Given the description of an element on the screen output the (x, y) to click on. 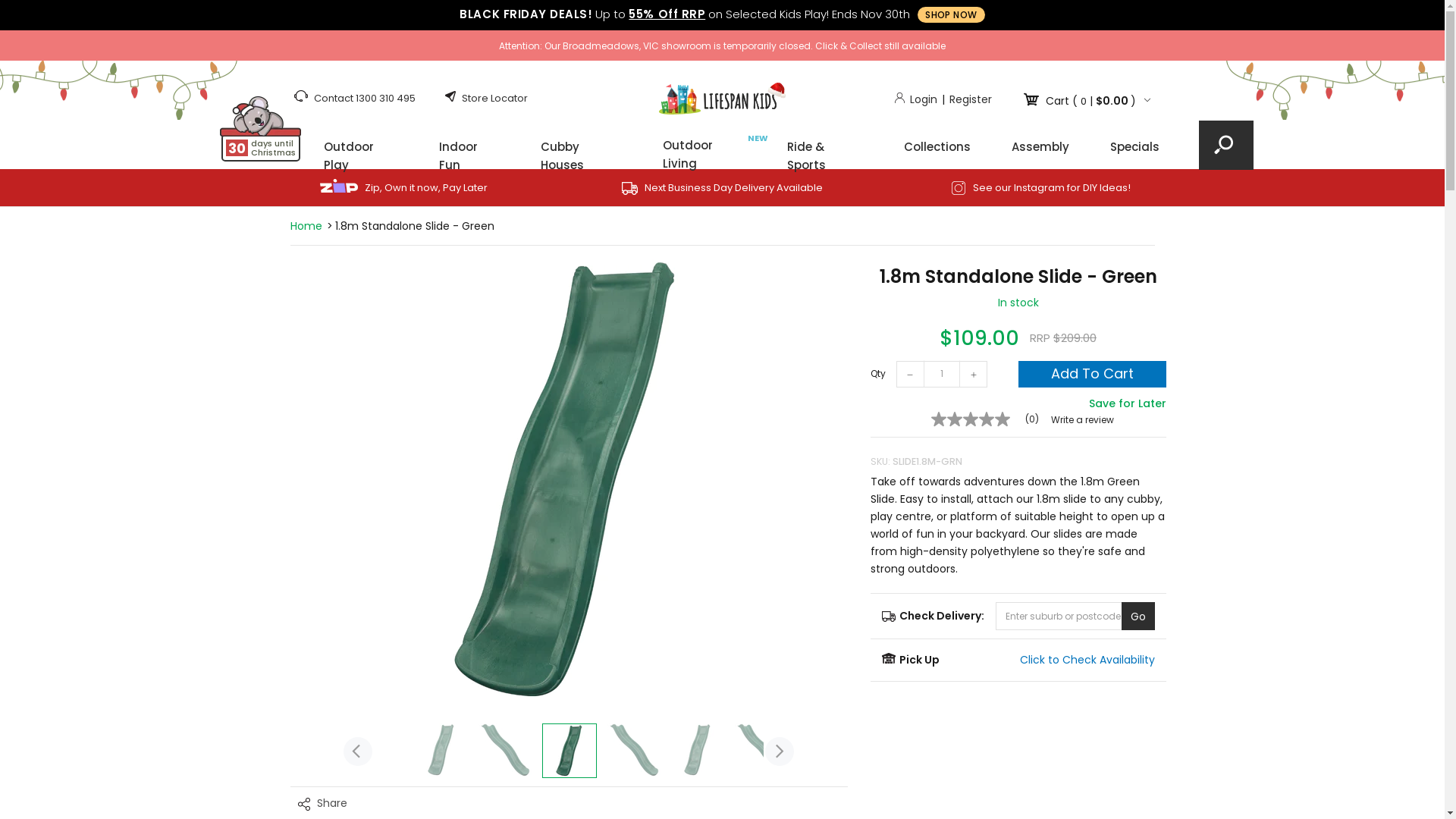
Add to Cart Element type: text (1091, 373)
Contact 1300 310 495 Element type: text (354, 98)
See our Instagram for DIY Ideas! Element type: text (1040, 187)
Register Element type: text (970, 98)
Save for Later Element type: text (1127, 403)
Store Locator Element type: text (485, 98)
Specials Element type: text (1134, 145)
Home Element type: text (305, 225)
Share Element type: text (321, 802)
Cubby Houses Element type: text (581, 145)
Login Element type: text (923, 98)
Next Business Day Delivery Available Element type: text (721, 187)
Click to Check Availability Element type: text (1086, 659)
Assembly Element type: text (1040, 145)
Zip, Own it now, Pay Later Element type: text (403, 187)
Outdoor Play Element type: text (360, 145)
Cart ( 0 | $0.00 ) Element type: text (1086, 95)
Ride & Sports Element type: text (824, 145)
Outdoor Living
NEW Element type: text (704, 144)
Indoor Fun Element type: text (468, 145)
Lifespan Kids Element type: hover (721, 110)
Lifespan Kids Element type: hover (721, 97)
SHOP NOW Element type: text (950, 14)
Collections Element type: text (937, 145)
